Given the description of an element on the screen output the (x, y) to click on. 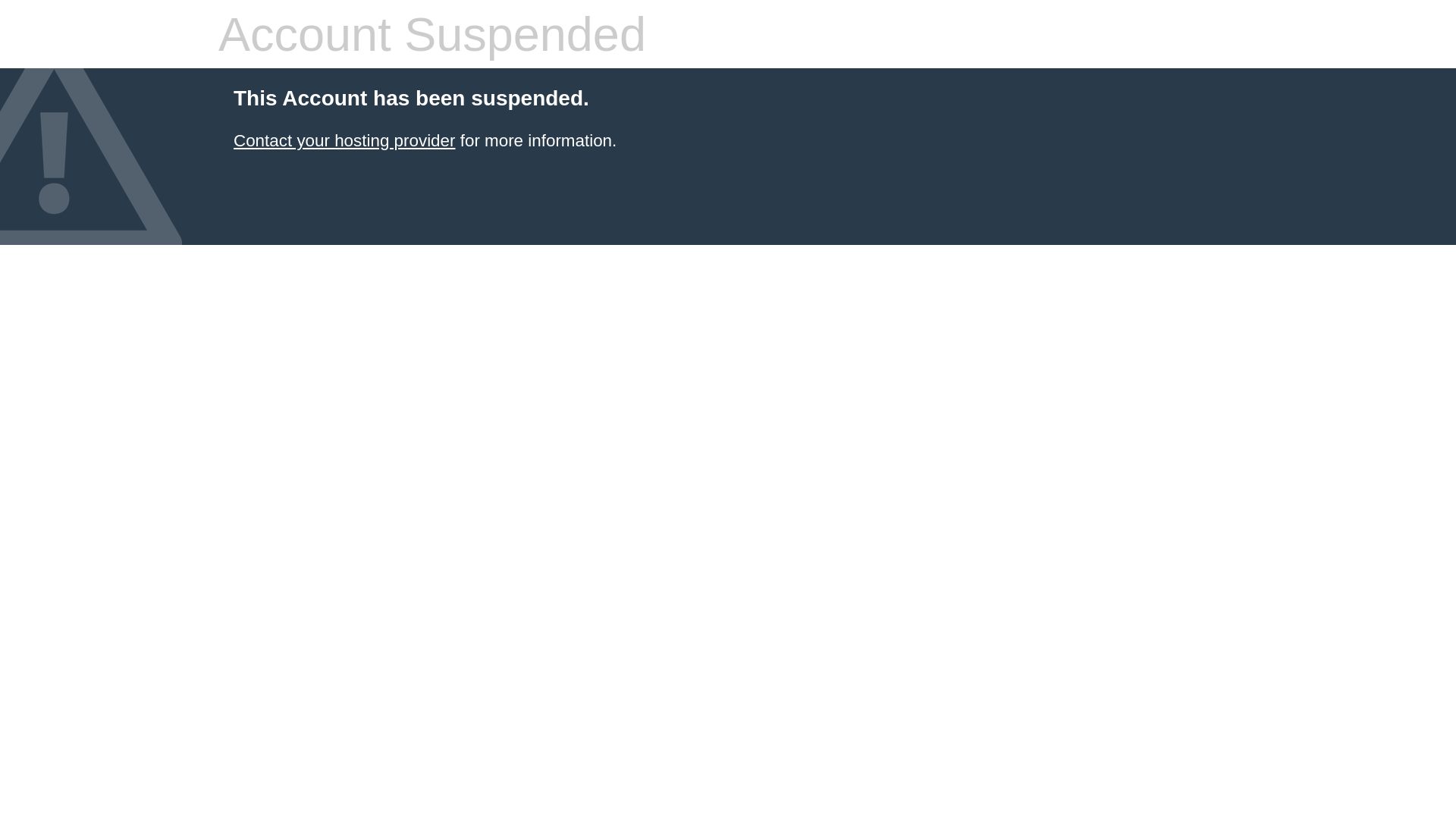
Contact your hosting provider Element type: text (344, 140)
